Given the description of an element on the screen output the (x, y) to click on. 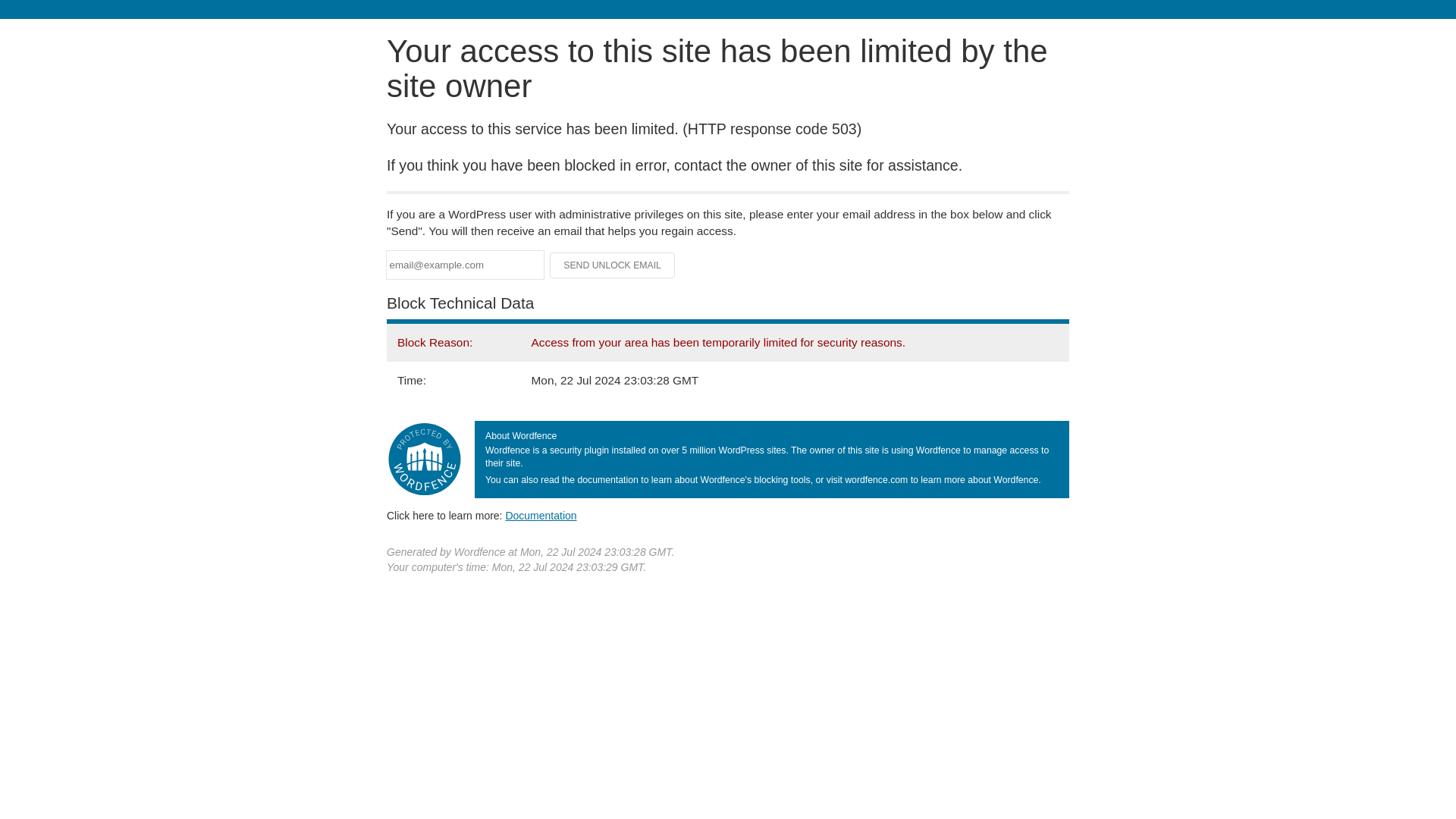
Send Unlock Email (612, 265)
Send Unlock Email (612, 265)
Documentation (540, 515)
